Given the description of an element on the screen output the (x, y) to click on. 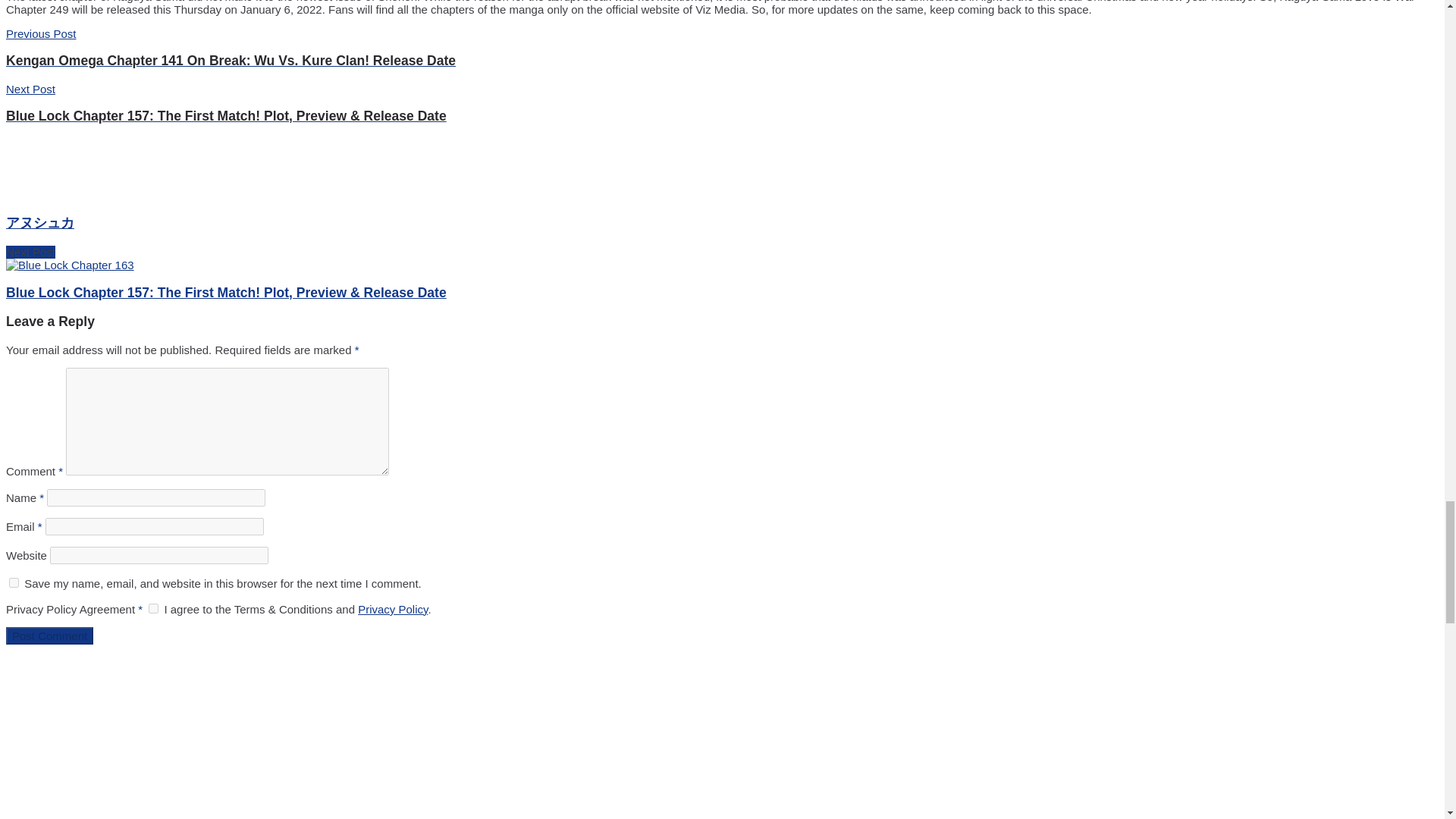
on (153, 608)
Post Comment (49, 635)
yes (13, 583)
